Given the description of an element on the screen output the (x, y) to click on. 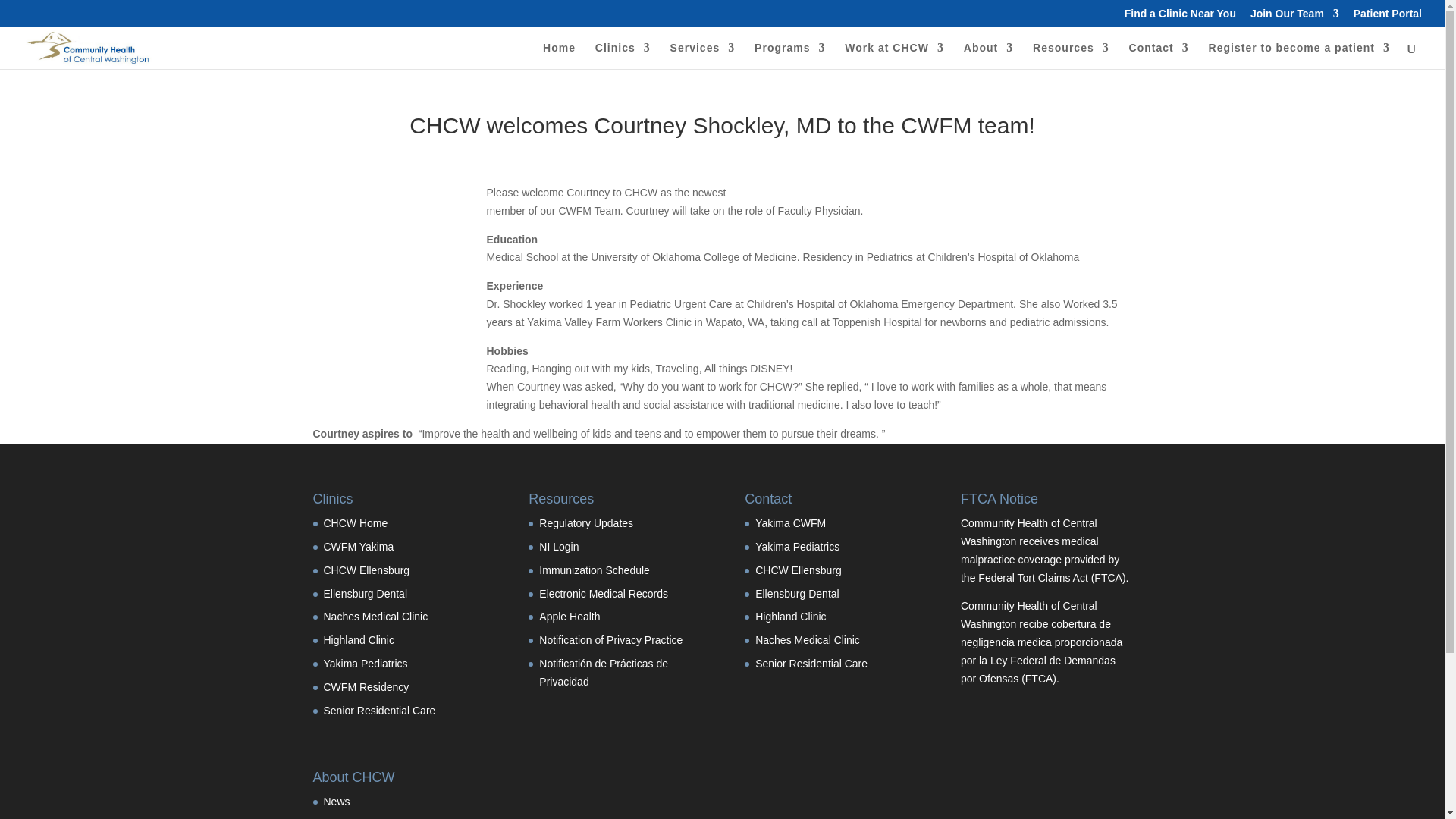
Work at CHCW (893, 55)
Programs (789, 55)
Clinics (622, 55)
Resources (1070, 55)
Contact (1159, 55)
Find a Clinic Near You (1180, 16)
Home (559, 55)
Patient Portal (1388, 16)
Services (702, 55)
About (988, 55)
